Given the description of an element on the screen output the (x, y) to click on. 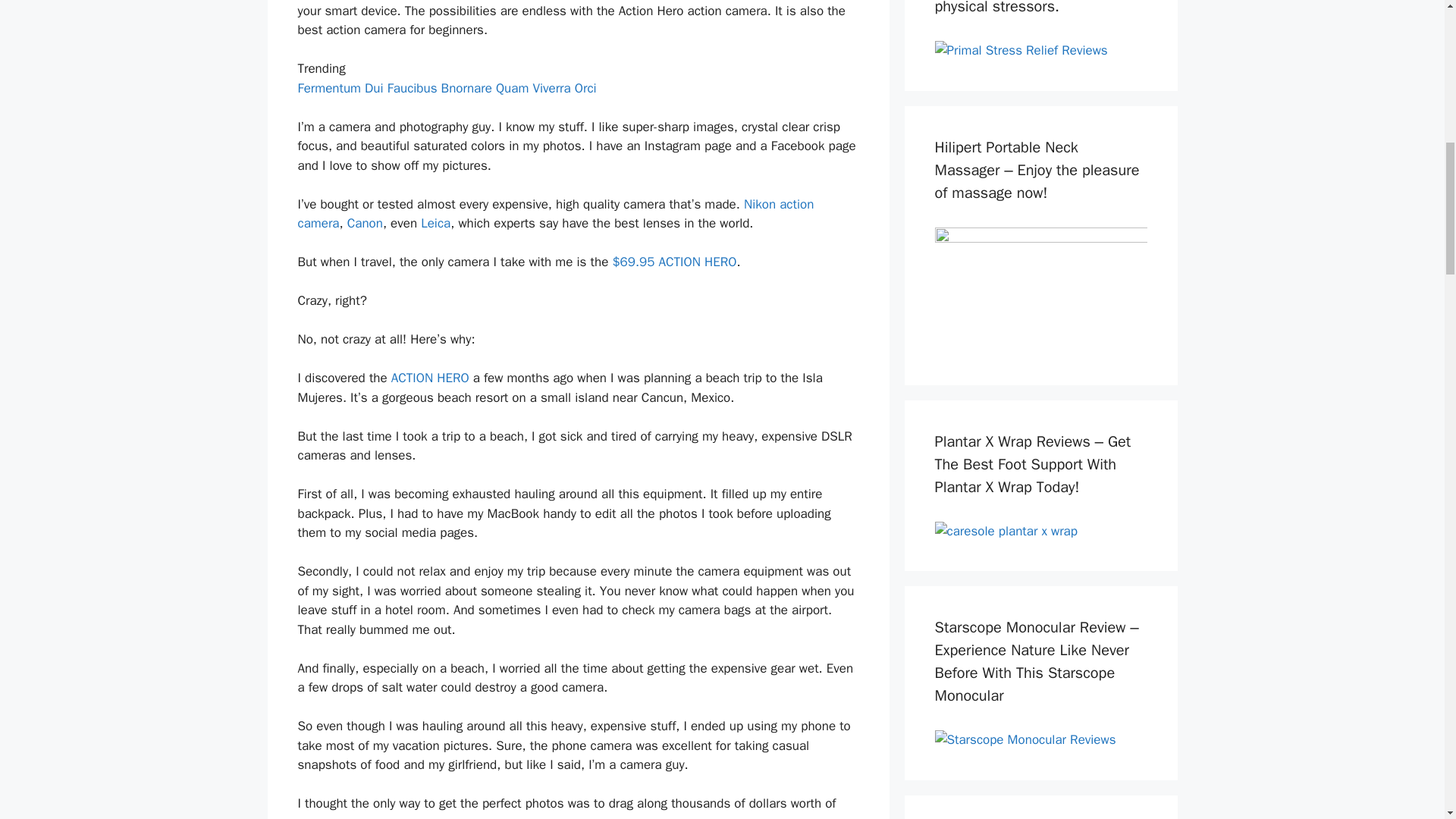
Shadow X Drone - All You Need To know (1040, 290)
Shadow X Drone - All You Need To know (1005, 531)
Nikon action camera (555, 212)
ACTION HERO (429, 377)
Fermentum Dui Faucibus Bnornare Quam Viverra Orci (446, 88)
Leica (434, 222)
Shadow X Drone - All You Need To know (1020, 50)
Canon (364, 222)
